Given the description of an element on the screen output the (x, y) to click on. 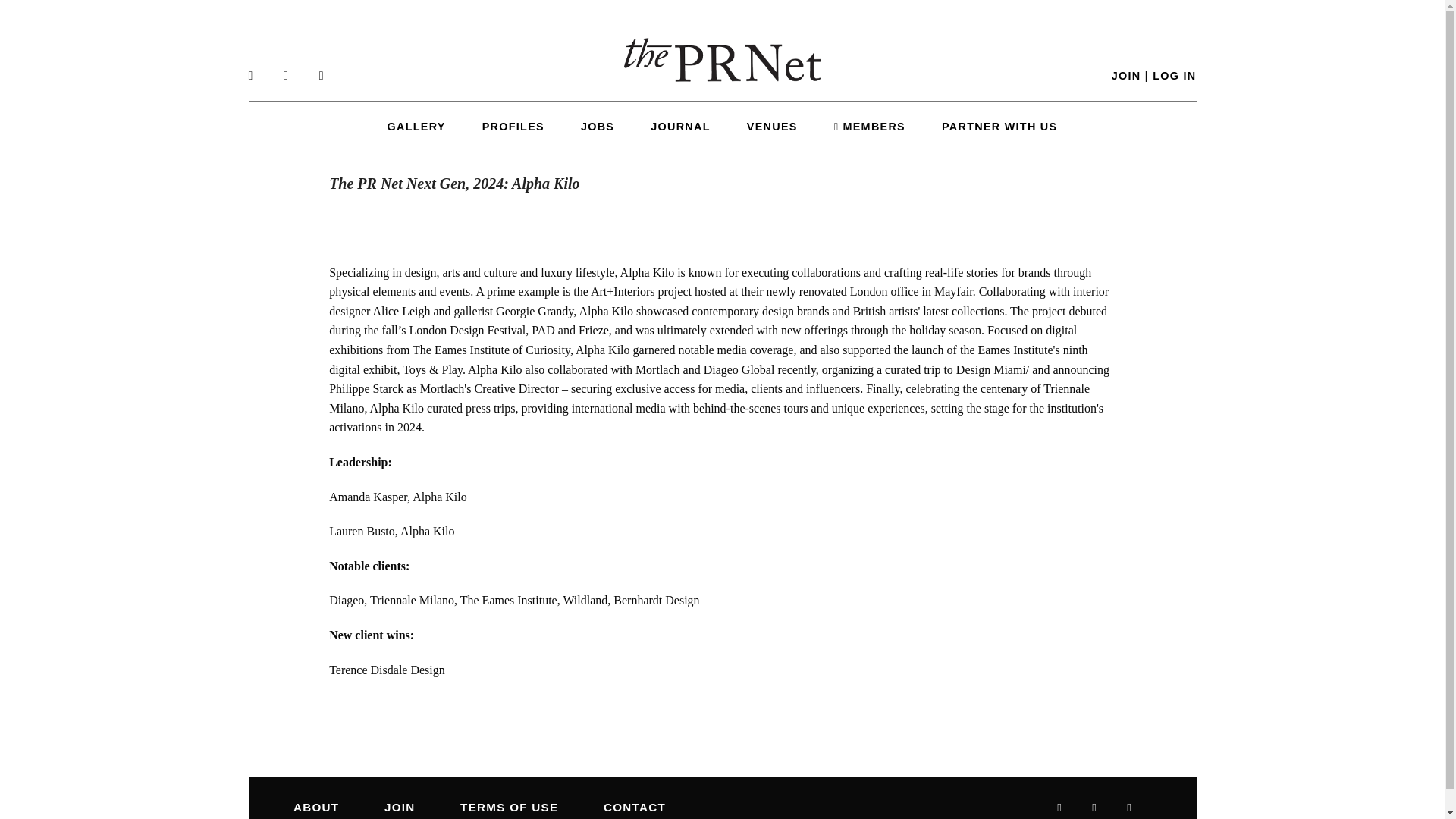
LOG IN (1174, 75)
PARTNER WITH US (999, 126)
GALLERY (416, 126)
JOIN (1126, 75)
JOBS (597, 126)
PROFILES (512, 126)
JOURNAL (680, 126)
VENUES (771, 126)
